Given the description of an element on the screen output the (x, y) to click on. 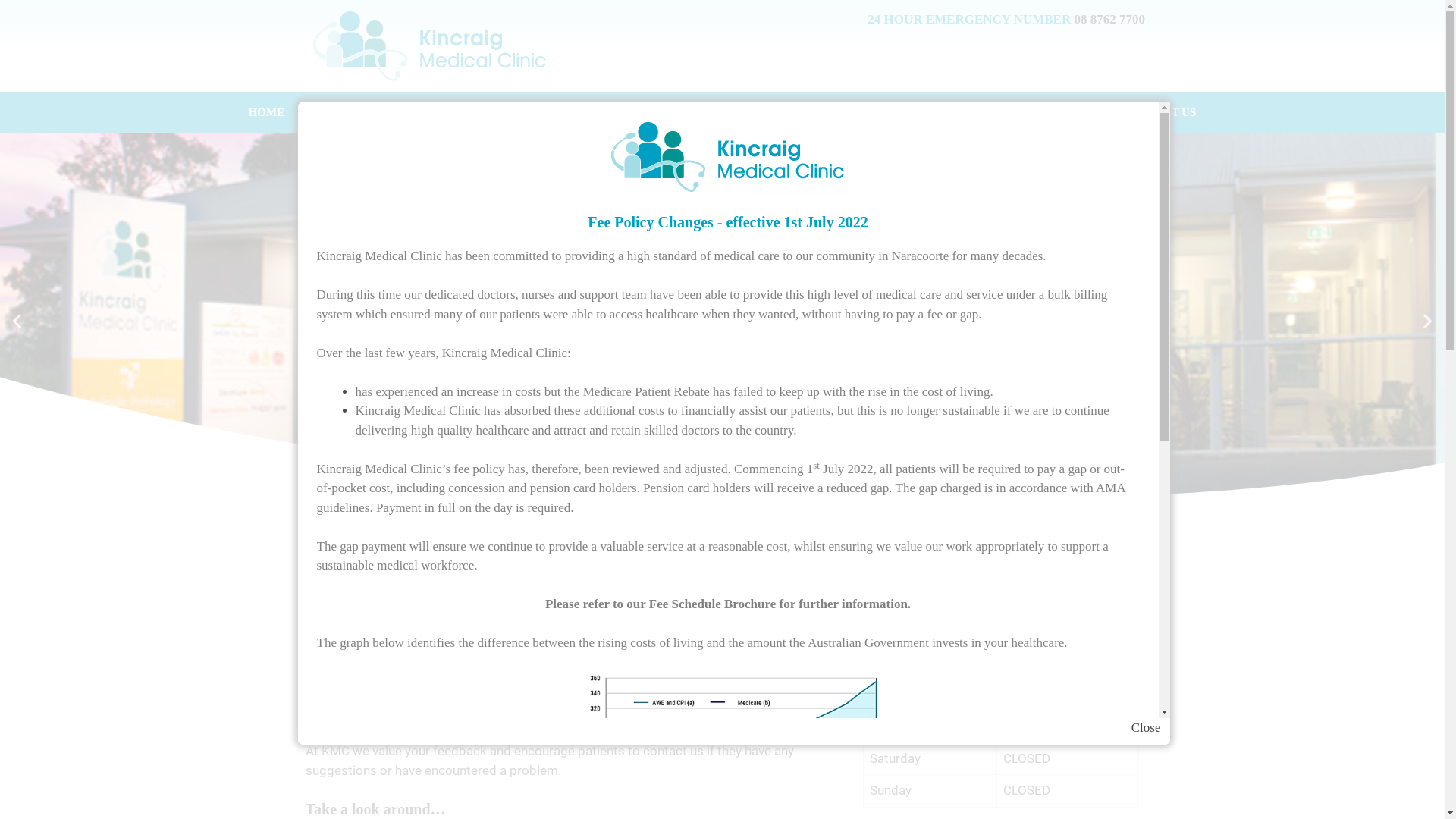
Book an appointment in KMC Element type: text (1000, 566)
CONTACT US Element type: text (1159, 111)
08 8762 7700 Element type: text (946, 641)
HOME Element type: text (266, 111)
SERVICES Element type: text (598, 111)
Close Element type: text (1146, 727)
PATIENT FORMS Element type: text (1046, 111)
ABOUT Element type: text (342, 111)
OBSTETRIC SERVICES Element type: text (728, 111)
COVID-19 INFORMATION Element type: text (899, 111)
DOCTORS AND STAFF Element type: text (471, 111)
